Given the description of an element on the screen output the (x, y) to click on. 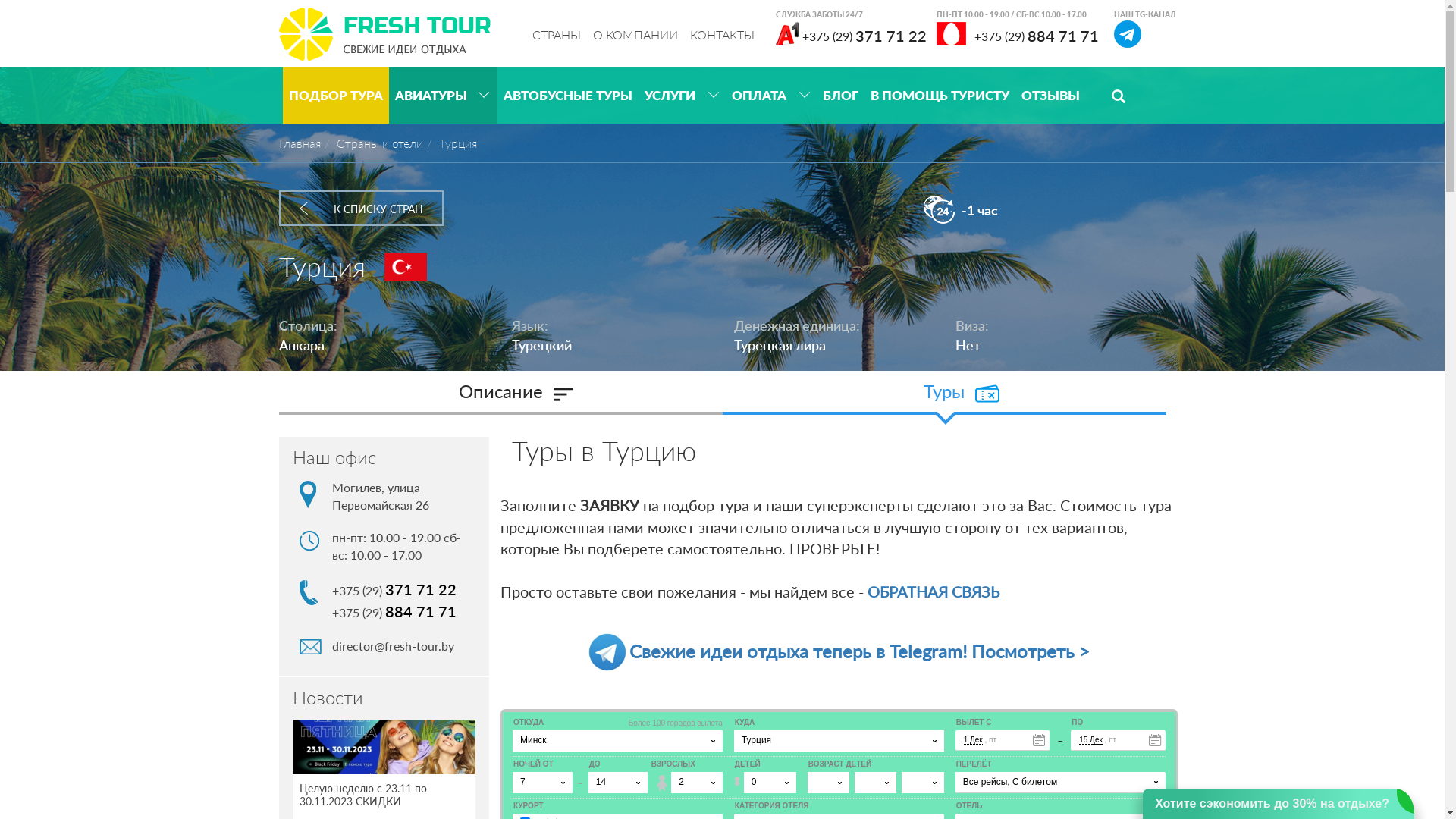
+375 (29) 884 71 71 Element type: text (1016, 33)
+375 (29) 371 71 22 Element type: text (855, 33)
